Given the description of an element on the screen output the (x, y) to click on. 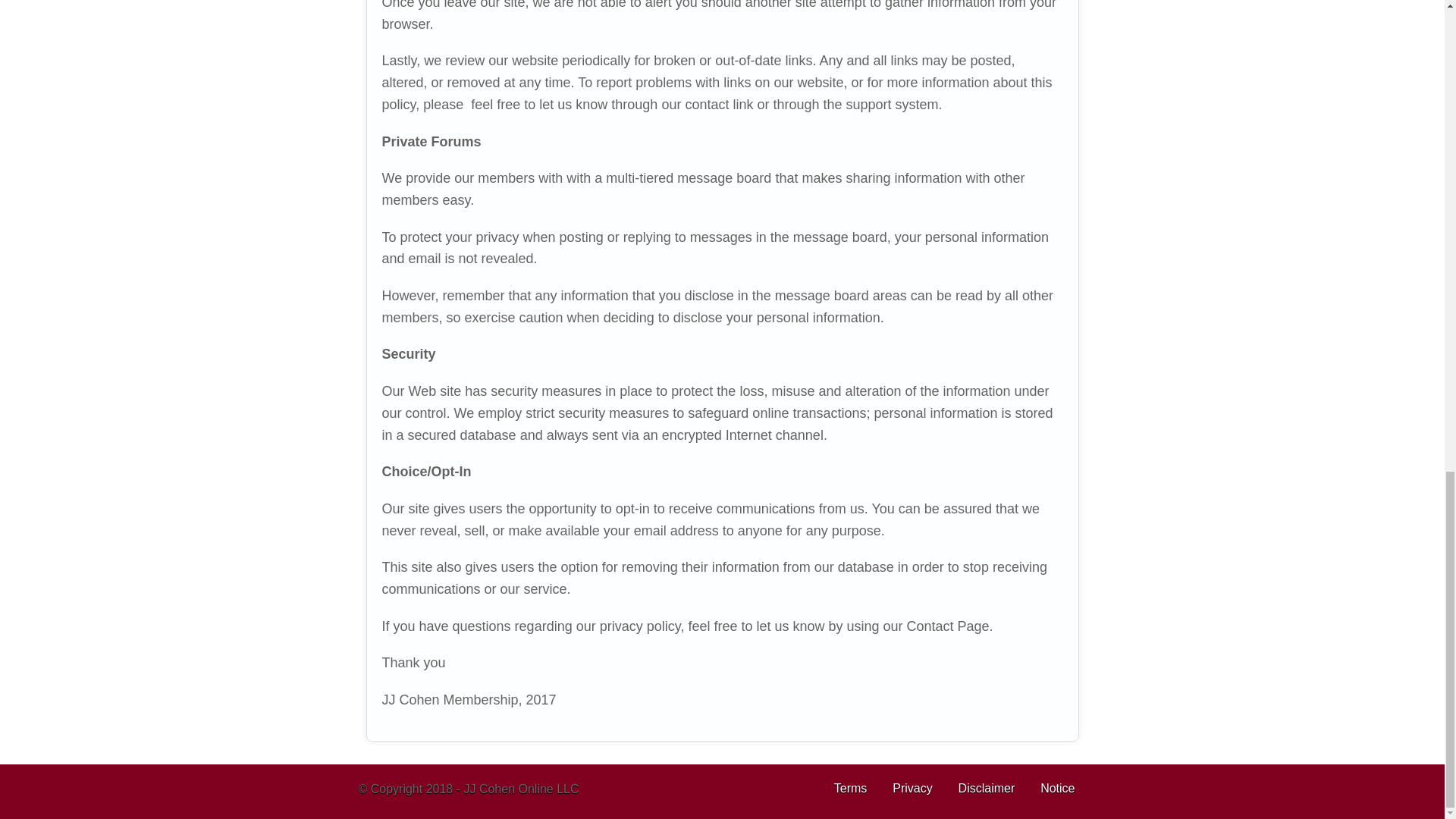
Privacy (911, 788)
Notice (1057, 788)
Disclaimer (986, 788)
Terms (850, 788)
